Given the description of an element on the screen output the (x, y) to click on. 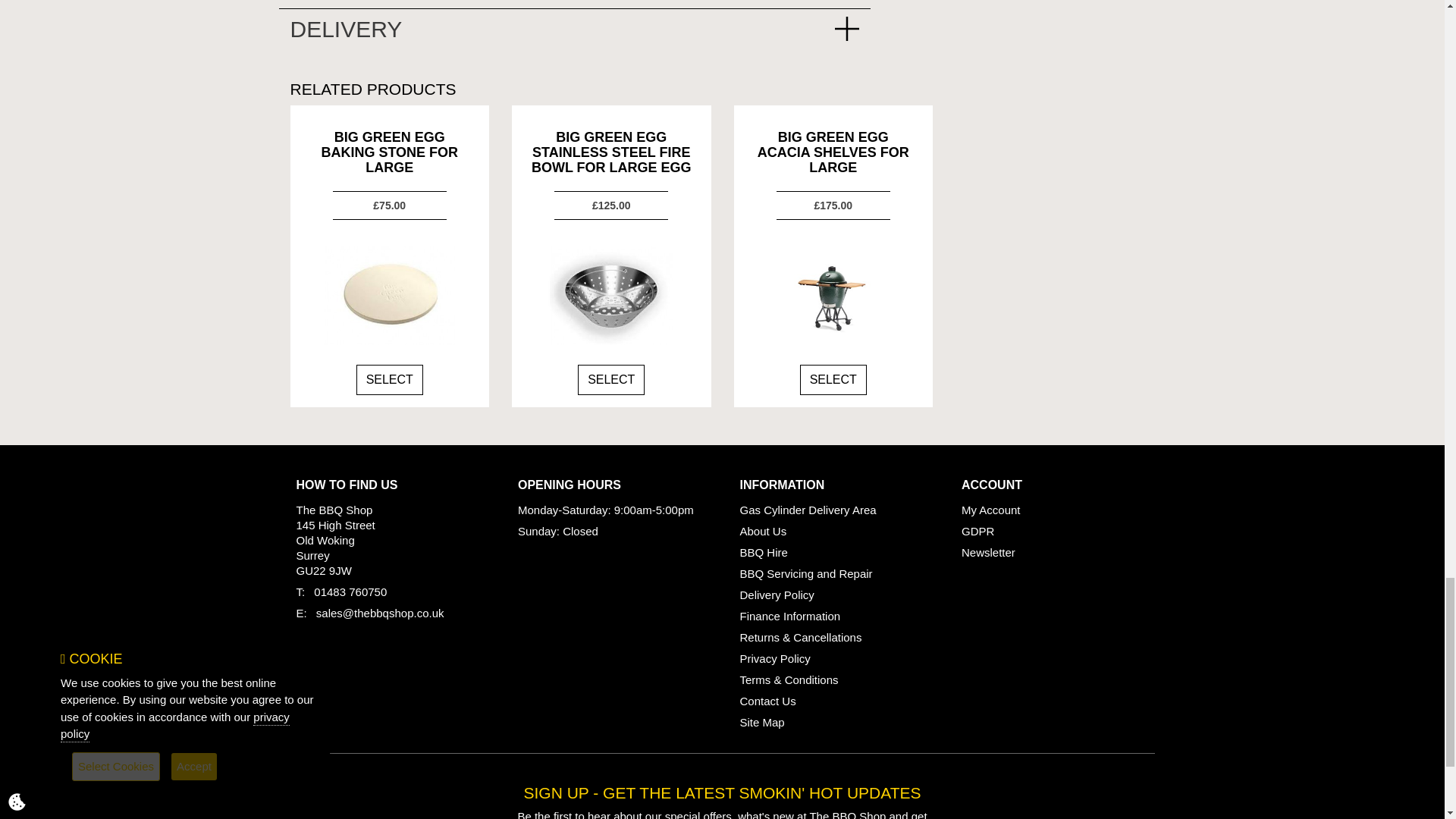
Big Green Egg Stainless Steel Fire Bowl For Large Egg (611, 295)
Big Green Egg Baking Stone for Large (389, 295)
Big Green Egg Acacia Shelves for Large (832, 295)
